Given the description of an element on the screen output the (x, y) to click on. 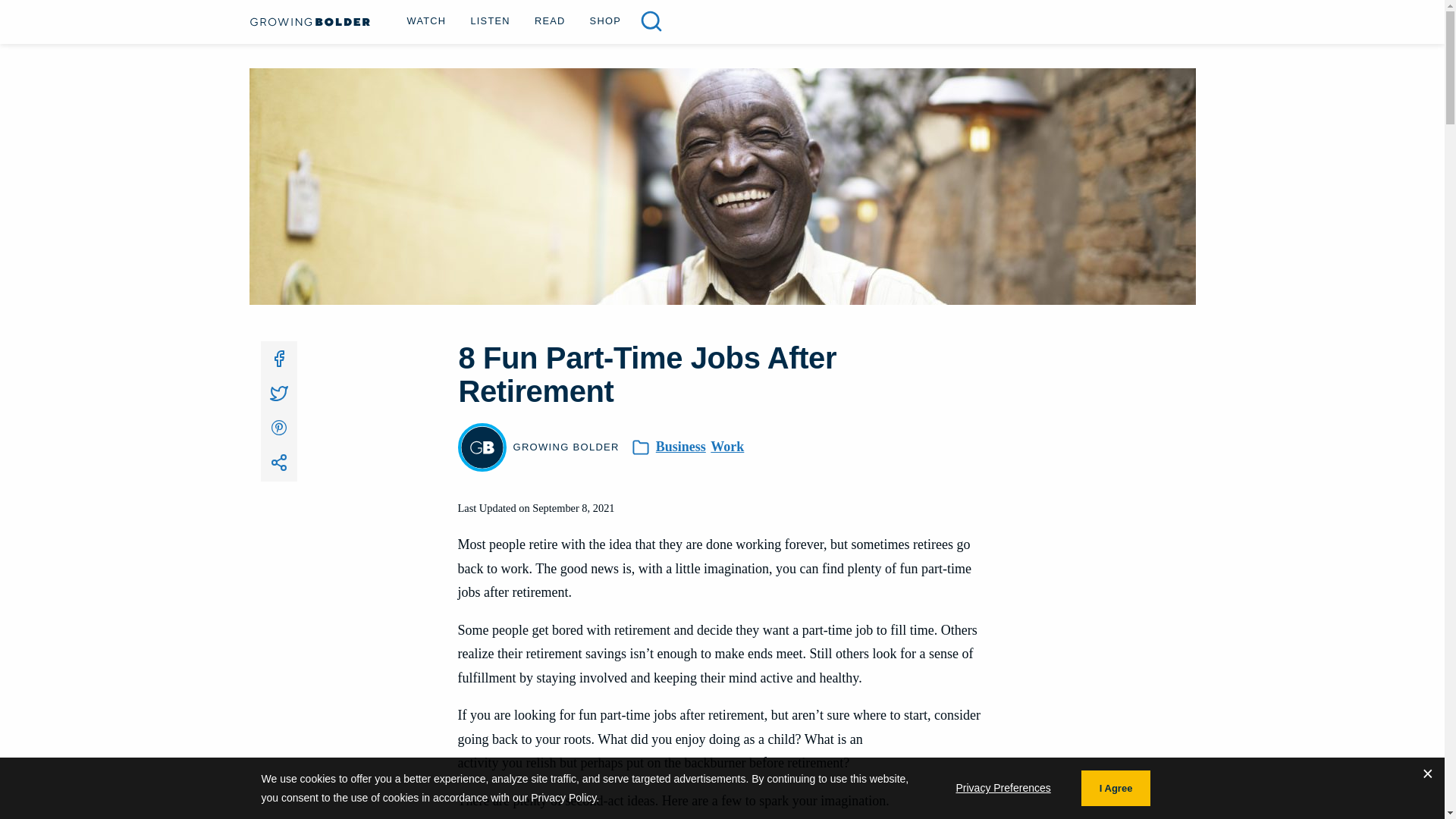
Link to:          (278, 463)
Search (651, 22)
Work (727, 446)
Business (681, 446)
Search (39, 15)
READ (550, 20)
Link to: Listen (489, 20)
SHOP (605, 20)
Link to: Business (681, 446)
LISTEN (489, 20)
